Given the description of an element on the screen output the (x, y) to click on. 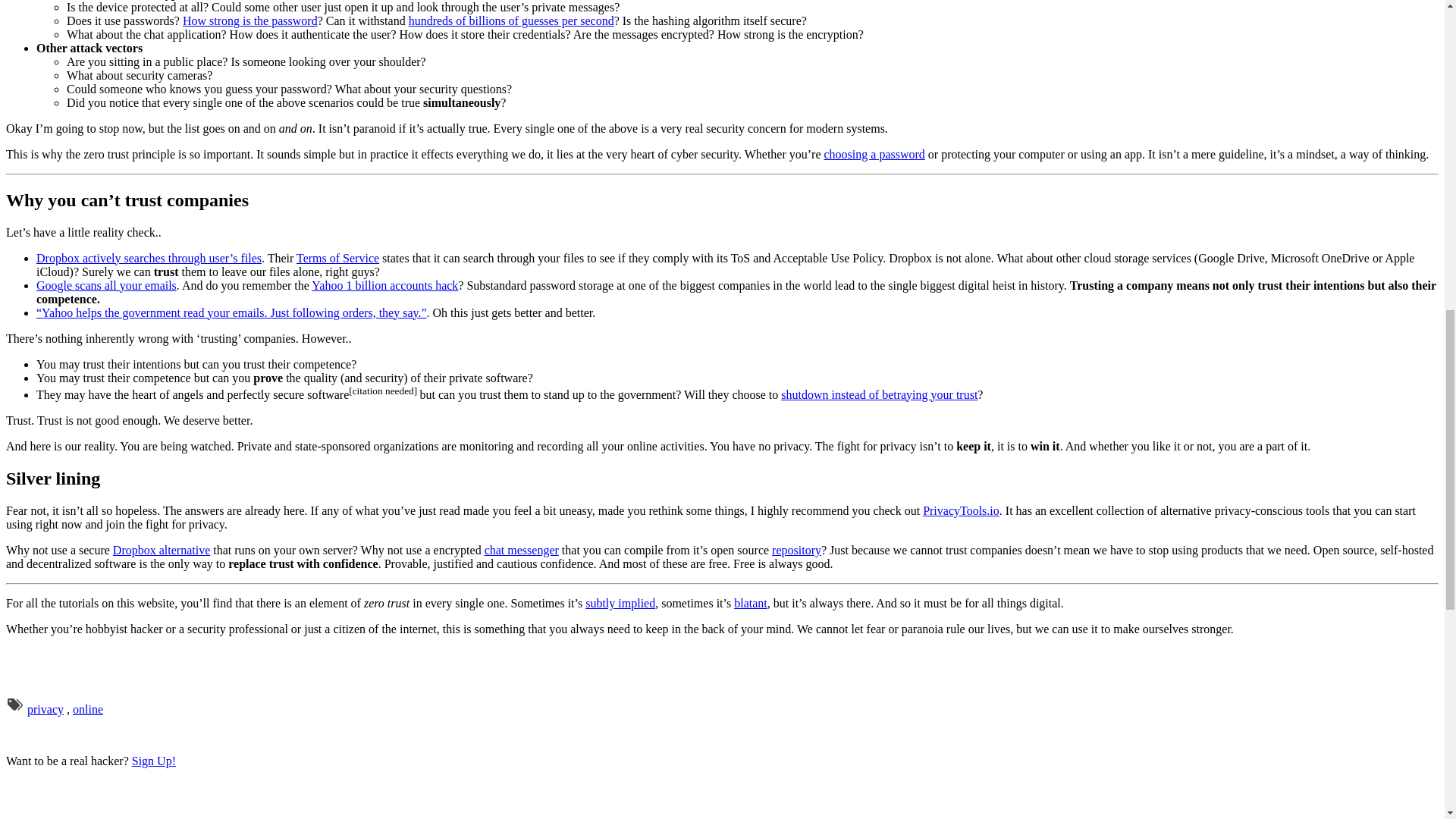
shutdown instead of betraying your trust (878, 394)
online (87, 708)
How strong is the password (250, 20)
repository (796, 549)
chat messenger (521, 549)
blatant (750, 603)
privacy (45, 708)
hundreds of billions of guesses per second (511, 20)
subtly implied (620, 603)
Google scans all your emails (106, 285)
Dropbox alternative (161, 549)
Yahoo 1 billion accounts hack (384, 285)
Sign Up! (154, 760)
PrivacyTools.io (960, 510)
choosing a password (874, 154)
